Given the description of an element on the screen output the (x, y) to click on. 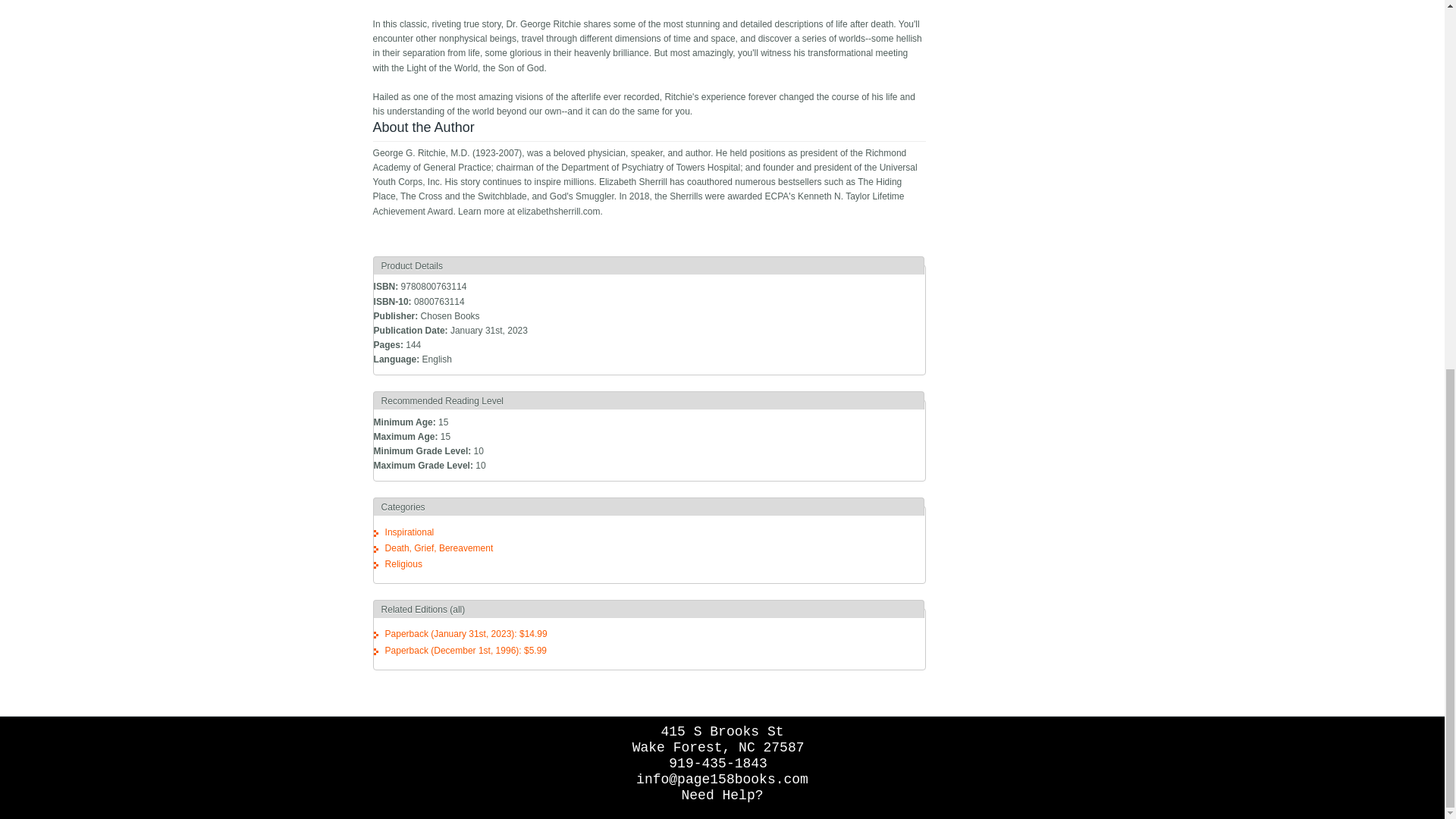
Need Help? (721, 795)
Death, Grief, Bereavement (439, 547)
Inspirational (409, 532)
Religious (403, 563)
